Given the description of an element on the screen output the (x, y) to click on. 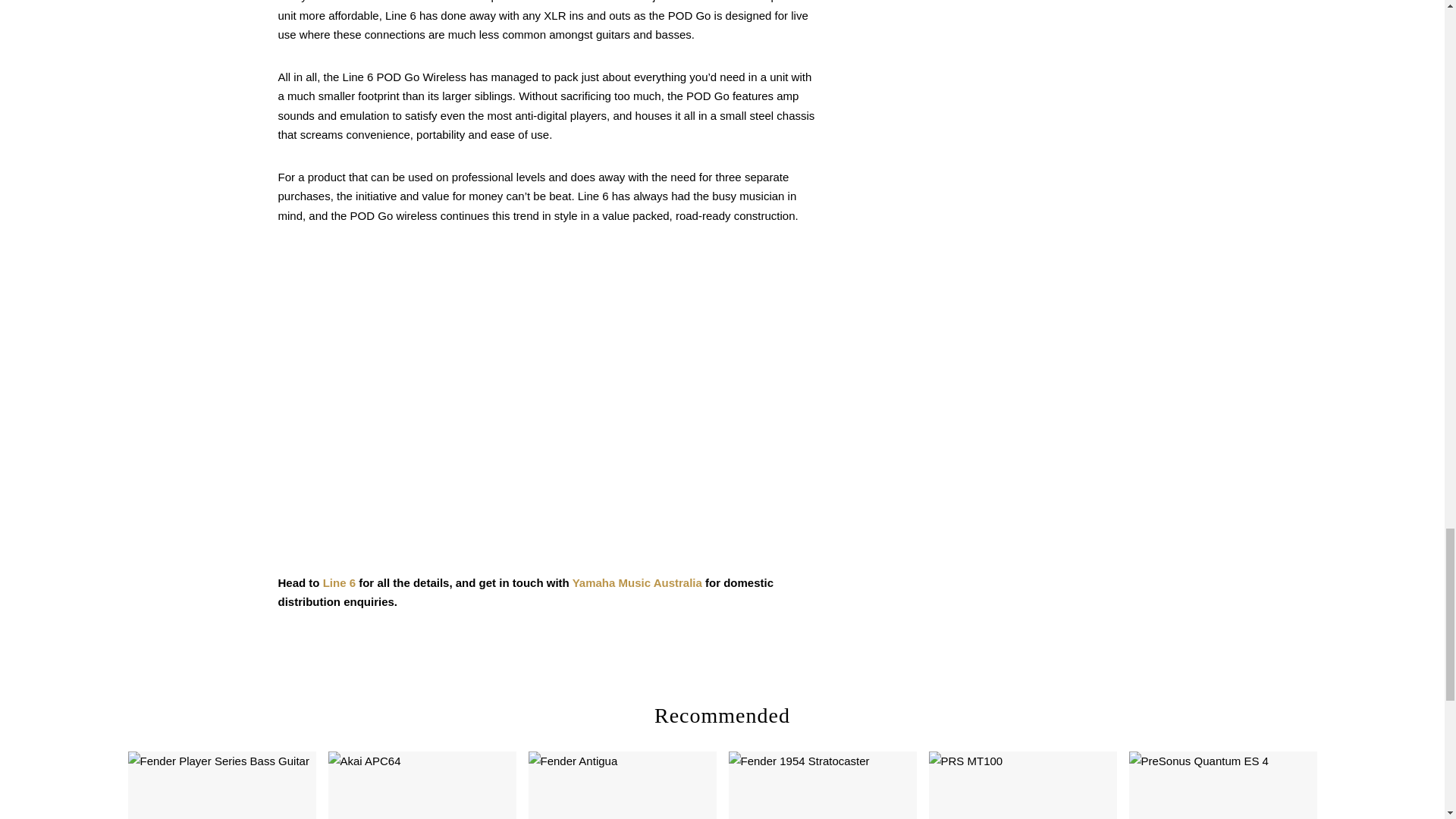
Yamaha Music Australia (636, 582)
Line 6 (339, 582)
